Given the description of an element on the screen output the (x, y) to click on. 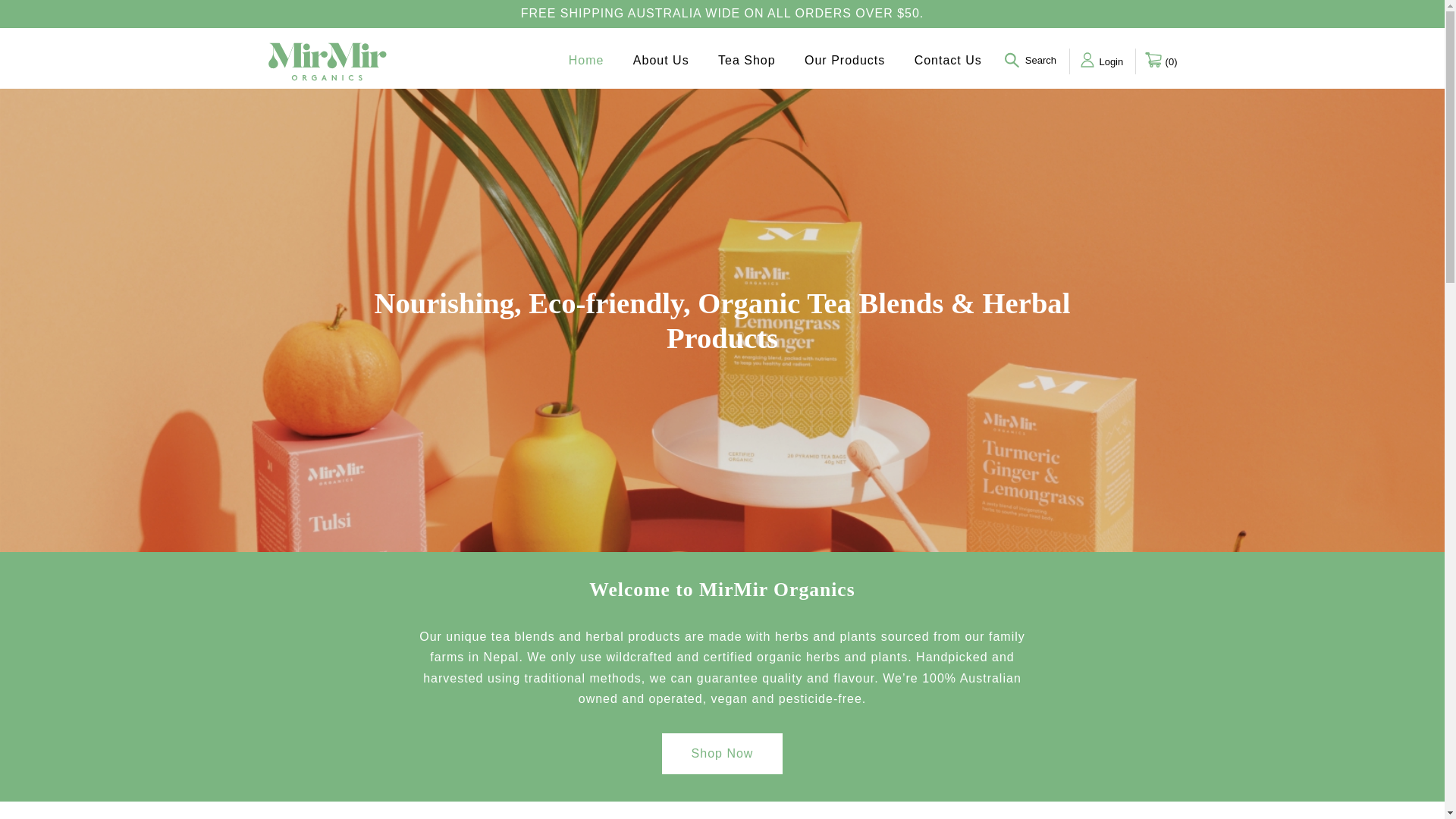
Our Products Element type: text (844, 60)
Tea Shop Element type: text (746, 60)
(0) Element type: text (1160, 58)
Shop Now Element type: text (722, 753)
Home Element type: text (586, 60)
Contact Us Element type: text (948, 60)
About Us Element type: text (661, 60)
Login Element type: text (1103, 58)
Search Element type: text (1031, 60)
